Given the description of an element on the screen output the (x, y) to click on. 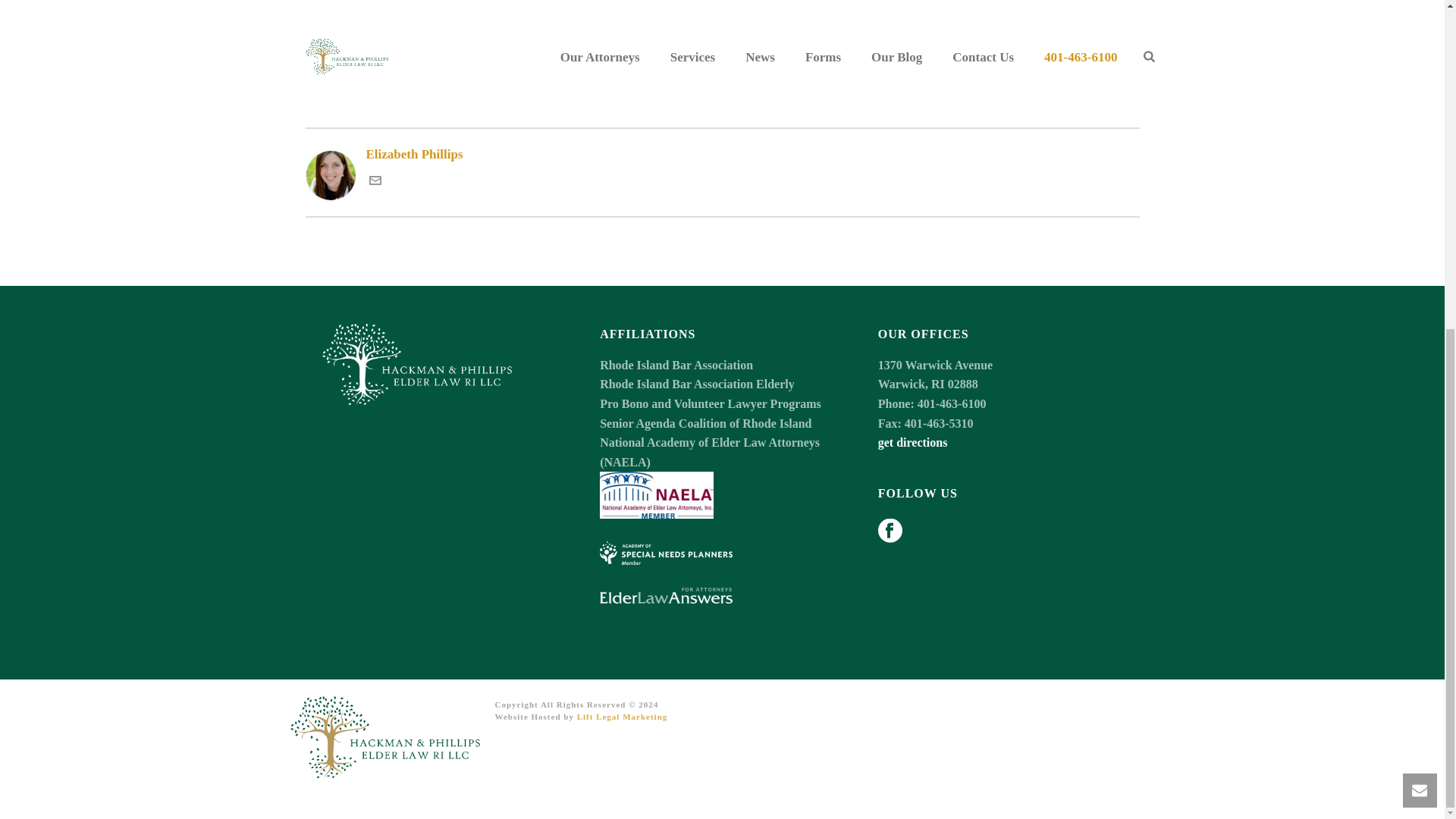
Follow Us on facebook (889, 531)
Lift Legal Marketing (622, 716)
get directions (912, 441)
click here (420, 19)
Elizabeth Phillips (721, 154)
